Given the description of an element on the screen output the (x, y) to click on. 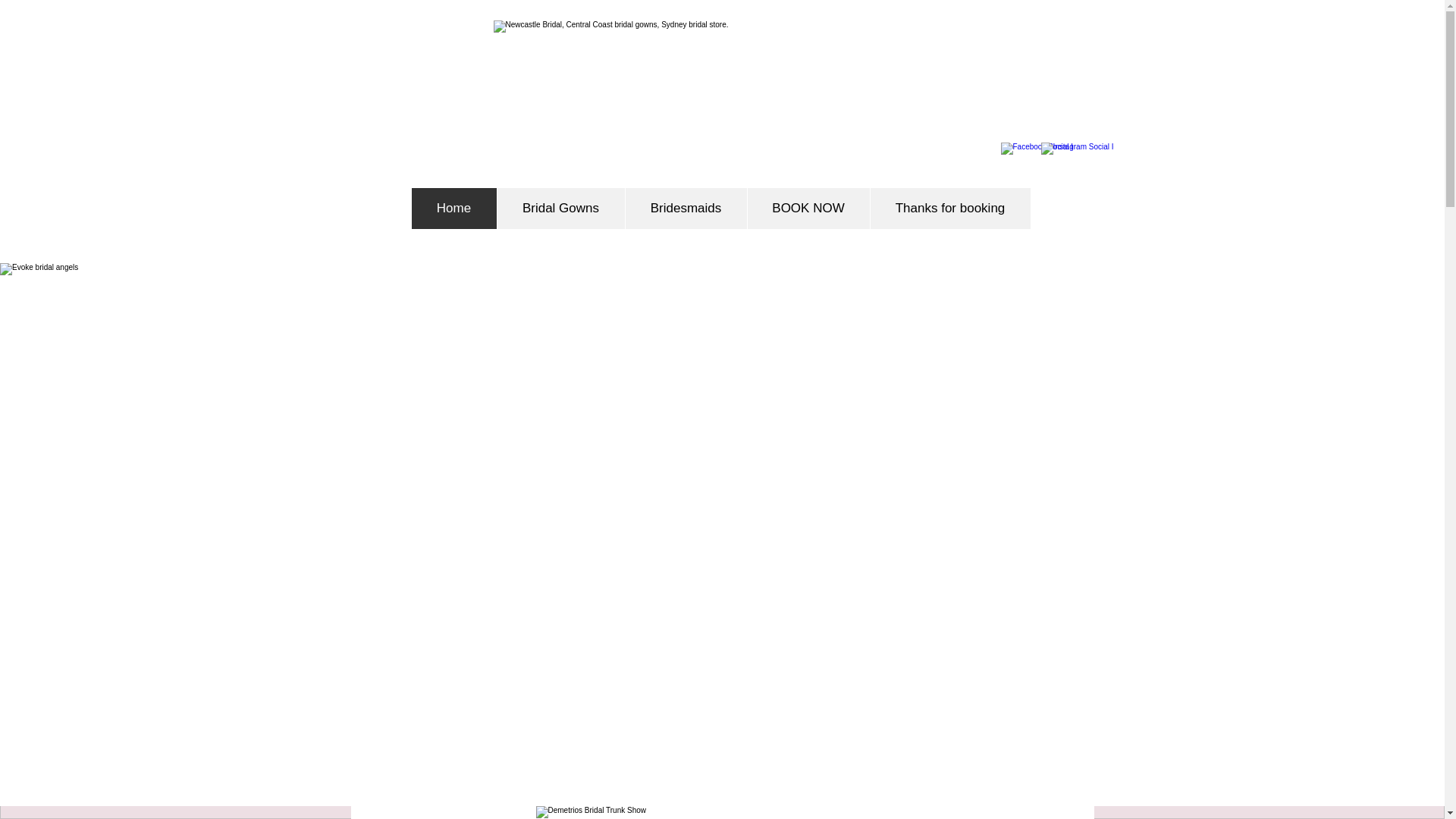
Final Touch Bridal  Element type: hover (720, 96)
Thanks for booking Element type: text (949, 208)
Bridesmaids Element type: text (685, 208)
Home Element type: text (453, 208)
Bridal Gowns Element type: text (559, 208)
BOOK NOW Element type: text (807, 208)
